Given the description of an element on the screen output the (x, y) to click on. 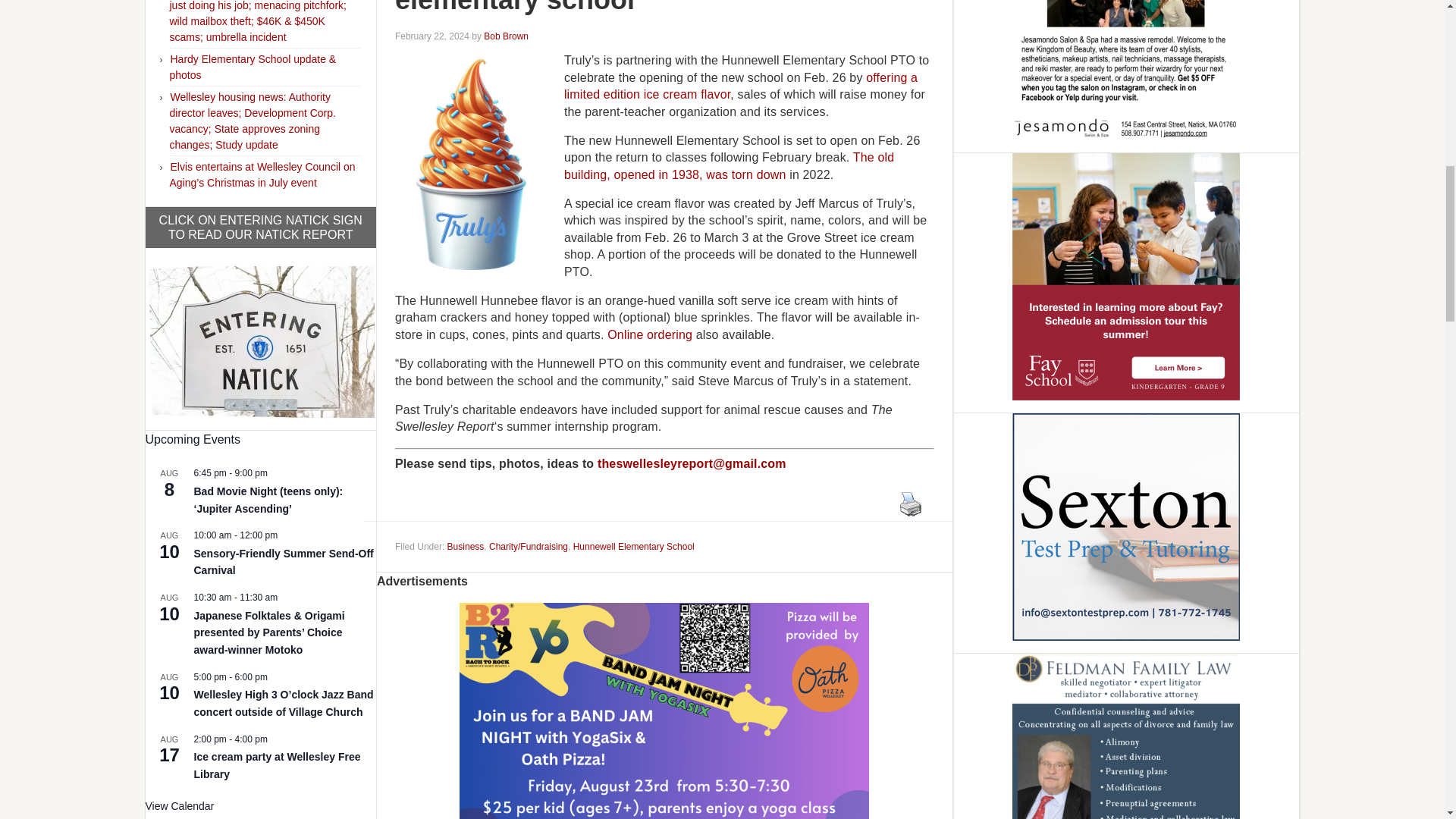
Click on Entering Natick sign to read our Natick Report (260, 339)
Sensory-Friendly Summer Send-Off Carnival (283, 562)
Ice cream party at Wellesley Free Library (277, 766)
Online ordering (650, 334)
Print Content (910, 504)
Business (465, 546)
offering a limited edition ice cream flavor (740, 85)
View more events. (179, 806)
The old building, opened in 1938, was torn down (728, 165)
Bob Brown (505, 36)
